Given the description of an element on the screen output the (x, y) to click on. 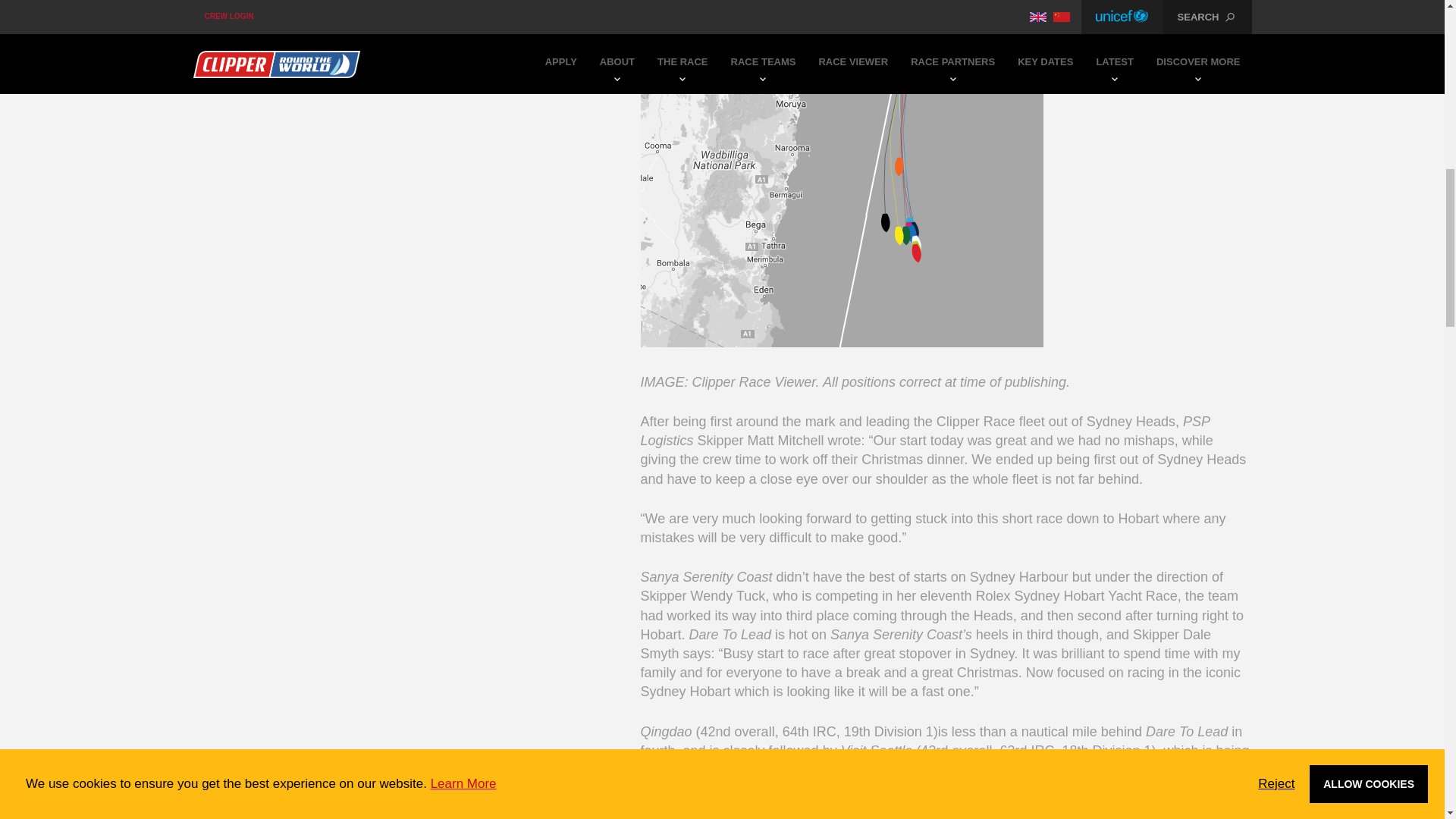
Share on StumbleUpon (391, 13)
Share on Facebook (201, 13)
Share on LinkedIn (263, 13)
Share on Twitter (233, 13)
Share on Reddit (357, 13)
Share on Pinterest (292, 13)
